Given the description of an element on the screen output the (x, y) to click on. 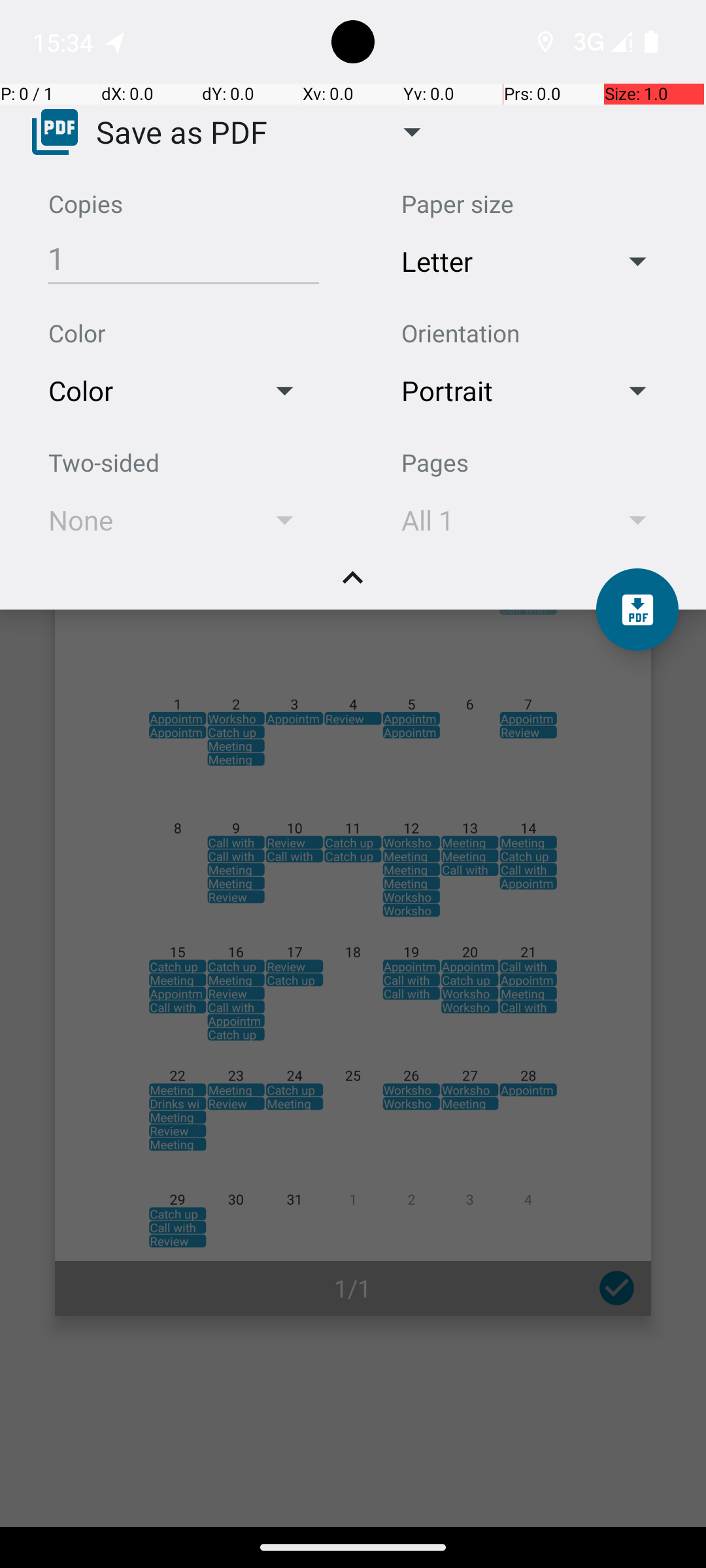
Copies Element type: android.widget.TextView (85, 203)
Paper size Element type: android.widget.TextView (457, 203)
Orientation Element type: android.widget.TextView (460, 332)
Two-sided Element type: android.widget.TextView (103, 461)
Pages Element type: android.widget.TextView (434, 461)
Collapse handle Element type: android.widget.FrameLayout (353, 585)
Save to PDF Element type: android.widget.ImageButton (637, 609)
Save as PDF Element type: android.widget.TextView (182, 131)
Letter Element type: android.widget.CheckedTextView (491, 261)
Portrait Element type: android.widget.CheckedTextView (491, 390)
All 1 Element type: android.widget.CheckedTextView (491, 519)
Page 1 of 1 Element type: android.widget.CompoundButton (352, 902)
1/1 Element type: android.widget.TextView (352, 1287)
